Given the description of an element on the screen output the (x, y) to click on. 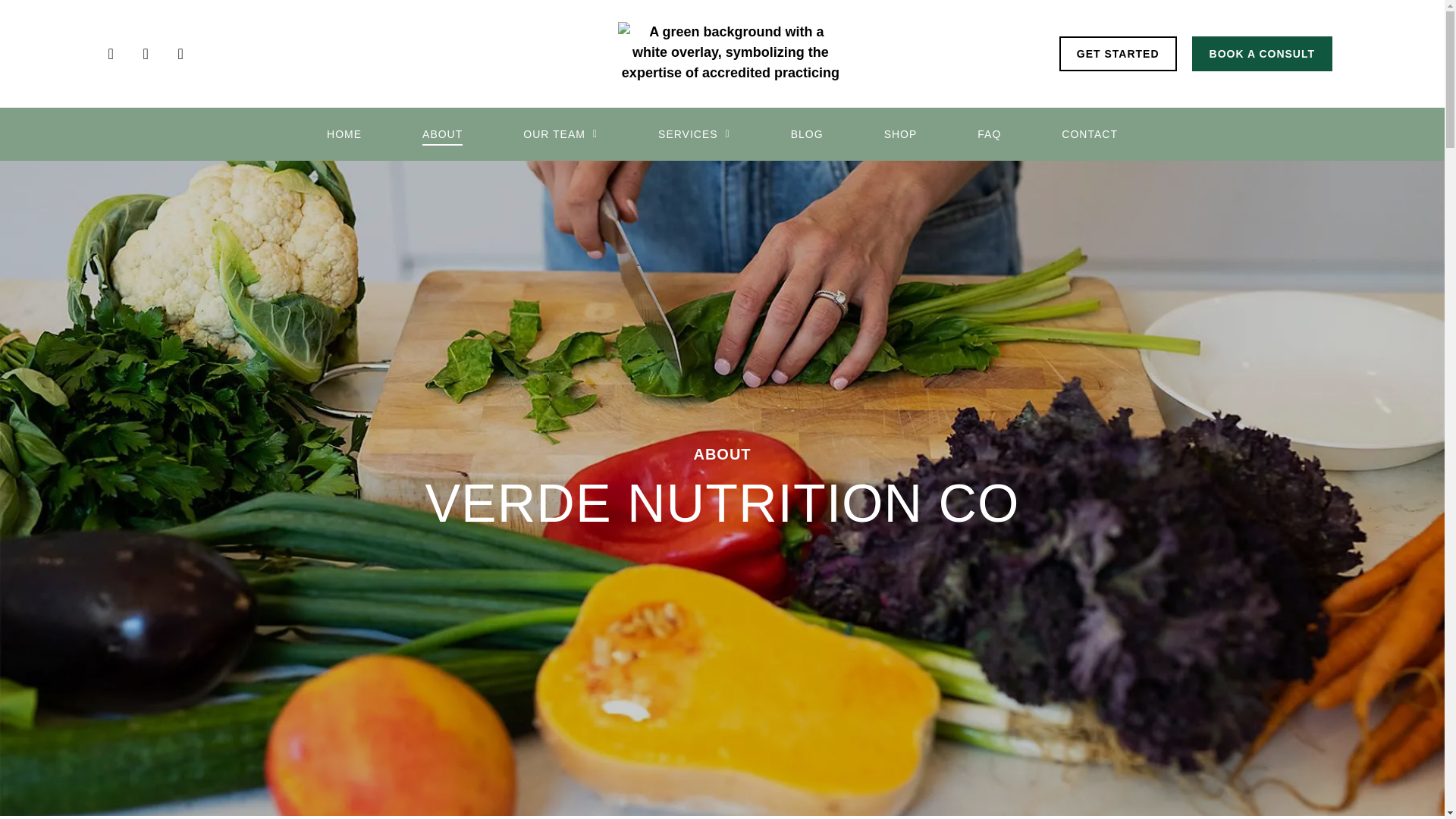
FAQ (988, 133)
OUR TEAM (559, 133)
SHOP (900, 133)
CONTACT (1089, 133)
SERVICES (694, 133)
GET STARTED (1117, 53)
BOOK A CONSULT (1262, 53)
HOME (343, 133)
BLOG (807, 133)
ABOUT (442, 133)
